Given the description of an element on the screen output the (x, y) to click on. 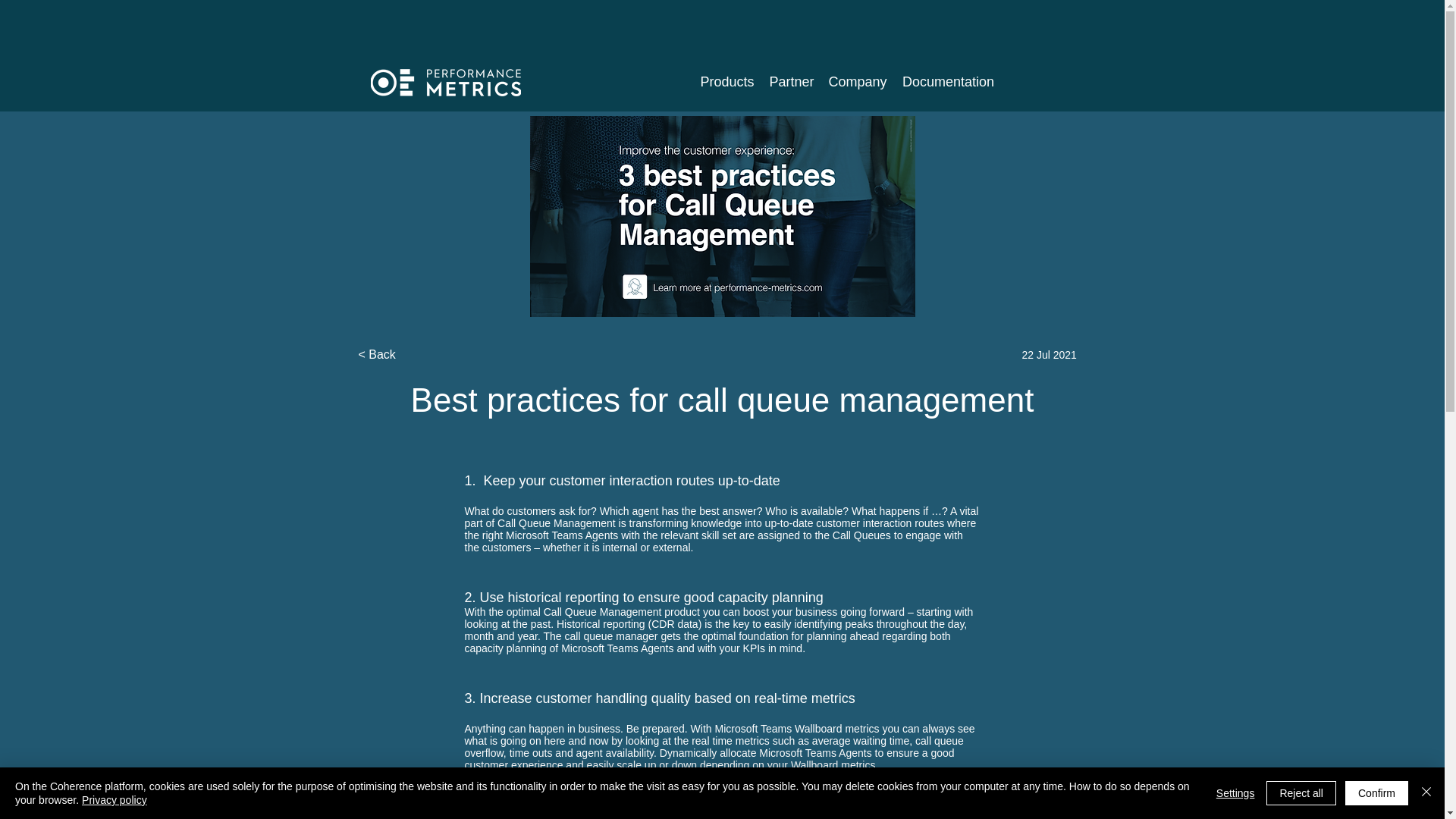
Reject all (1301, 793)
Products (727, 81)
Confirm (1376, 793)
Company (857, 81)
Partner (791, 81)
Privacy policy (114, 799)
